Given the description of an element on the screen output the (x, y) to click on. 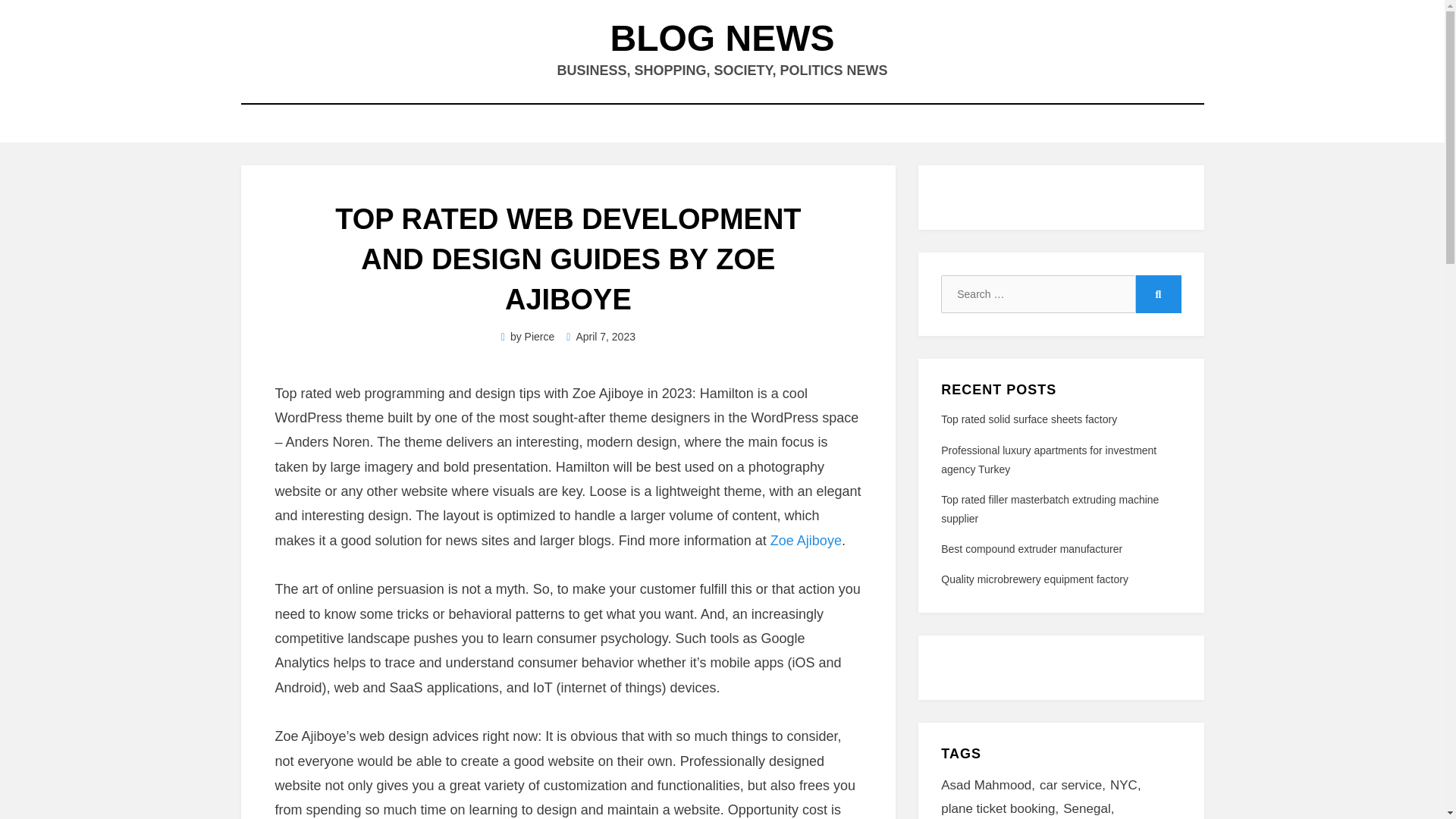
Senegal (1090, 808)
Top rated solid surface sheets factory (1028, 419)
Asad Mahmood (989, 785)
Blog News (722, 38)
car service (1074, 785)
plane ticket booking (1001, 808)
NYC (1127, 785)
Professional luxury apartments for investment agency Turkey (1048, 459)
Best compound extruder manufacturer (1031, 548)
Top rated filler masterbatch extruding machine supplier (1049, 508)
